Given the description of an element on the screen output the (x, y) to click on. 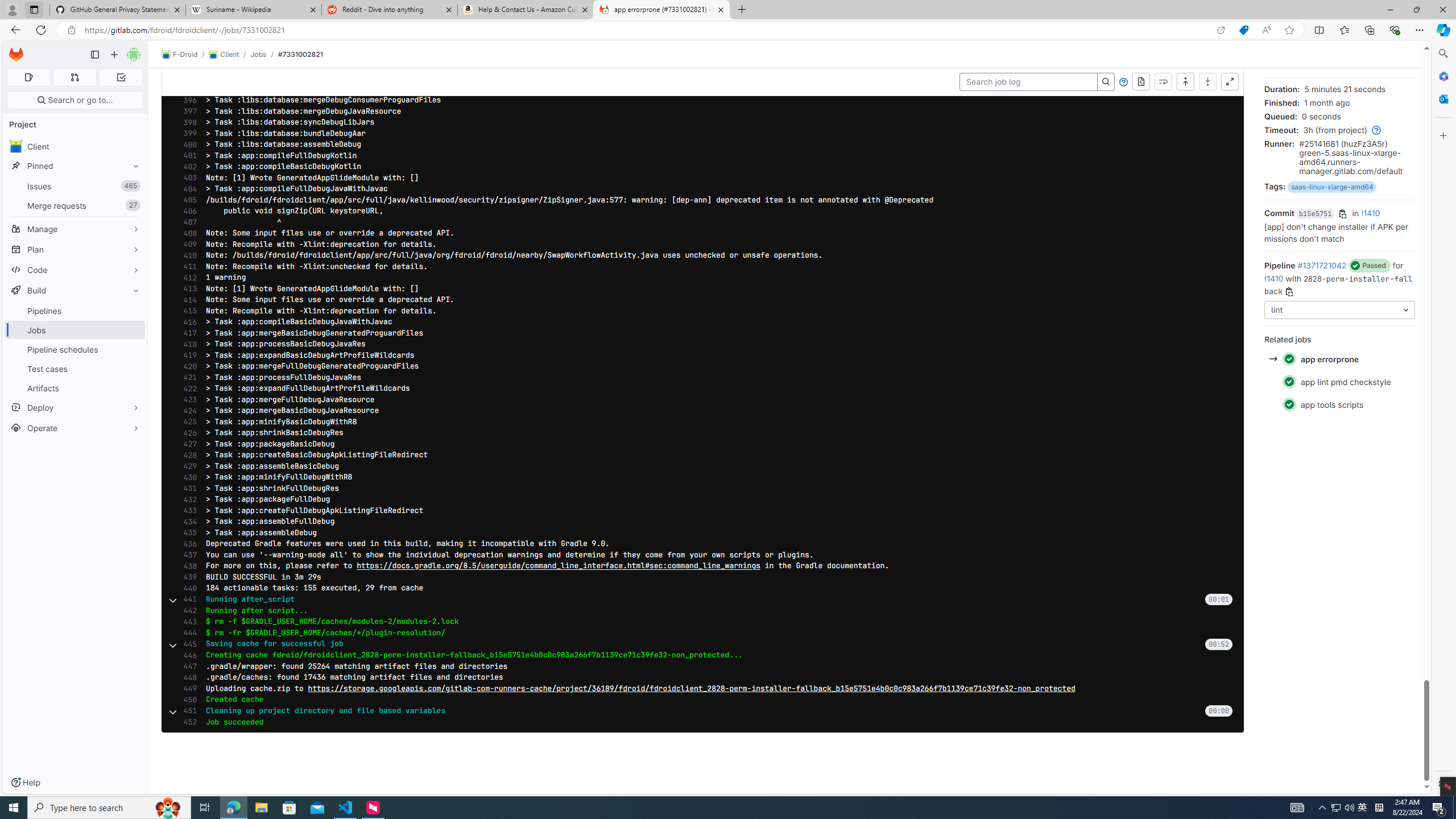
Jobs (258, 53)
432 (186, 499)
421 (186, 377)
#7331002821 (300, 53)
Primary navigation sidebar (94, 54)
#1371721042 (1321, 265)
452 (186, 722)
Class: gl-link (1374, 130)
Pipelines (74, 310)
444 (186, 632)
408 (186, 233)
